Given the description of an element on the screen output the (x, y) to click on. 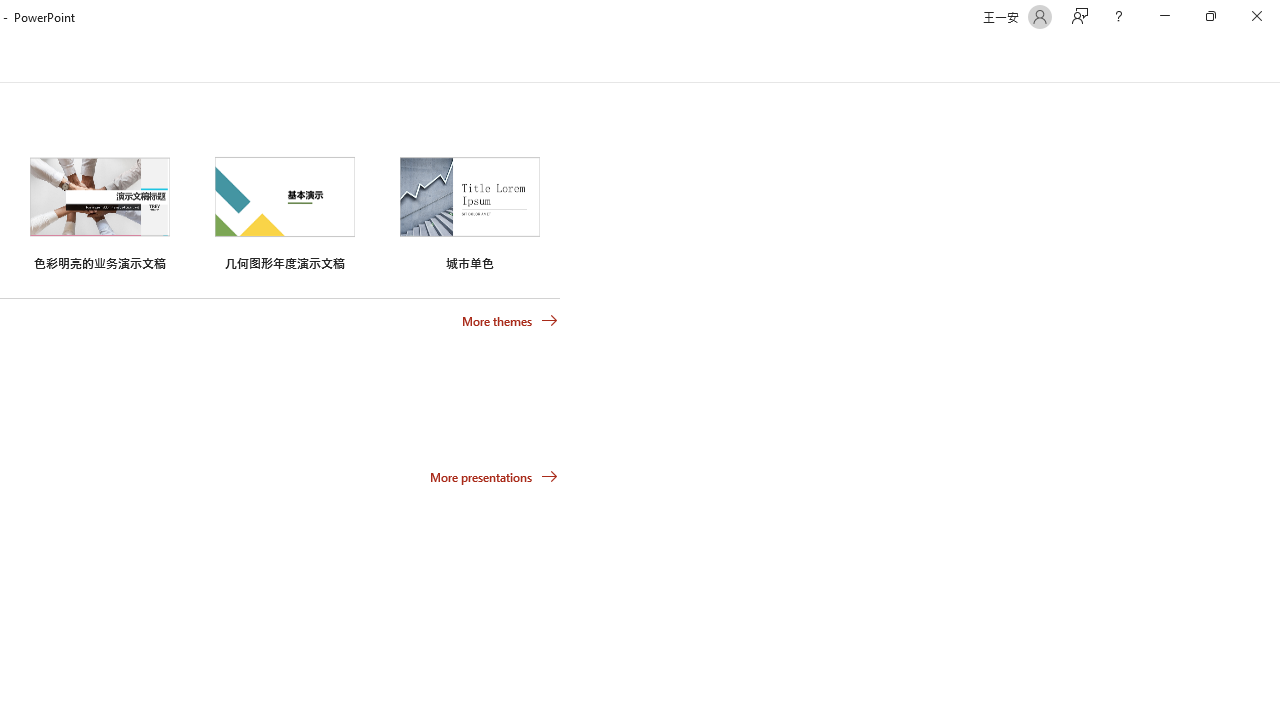
Class: NetUIScrollBar (1271, 59)
Restore Down (1210, 16)
More themes (509, 321)
Close (1256, 16)
Minimize (1164, 16)
More presentations (493, 476)
